Given the description of an element on the screen output the (x, y) to click on. 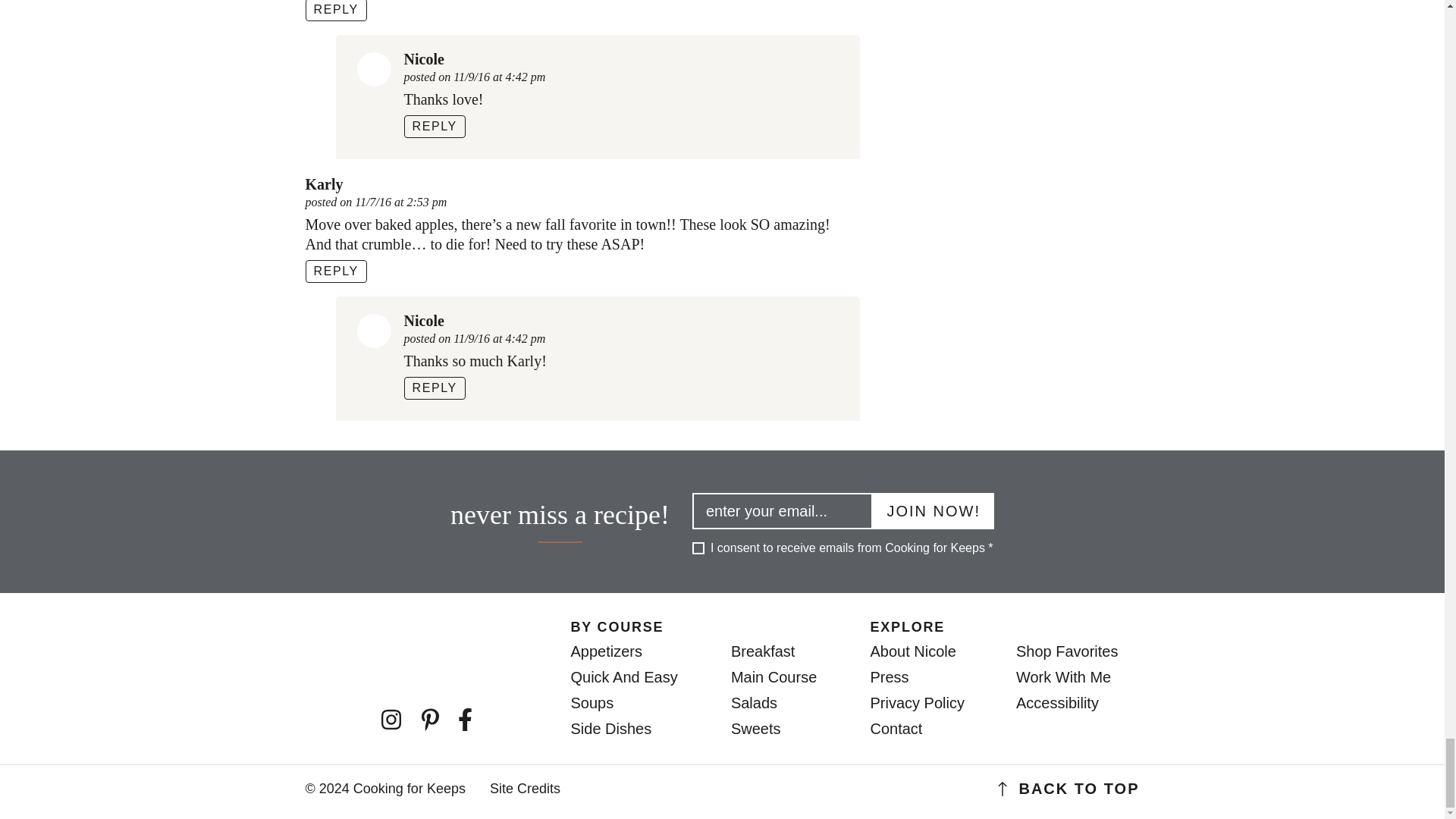
 I consent to receive emails from Cooking for Keeps (698, 548)
